Given the description of an element on the screen output the (x, y) to click on. 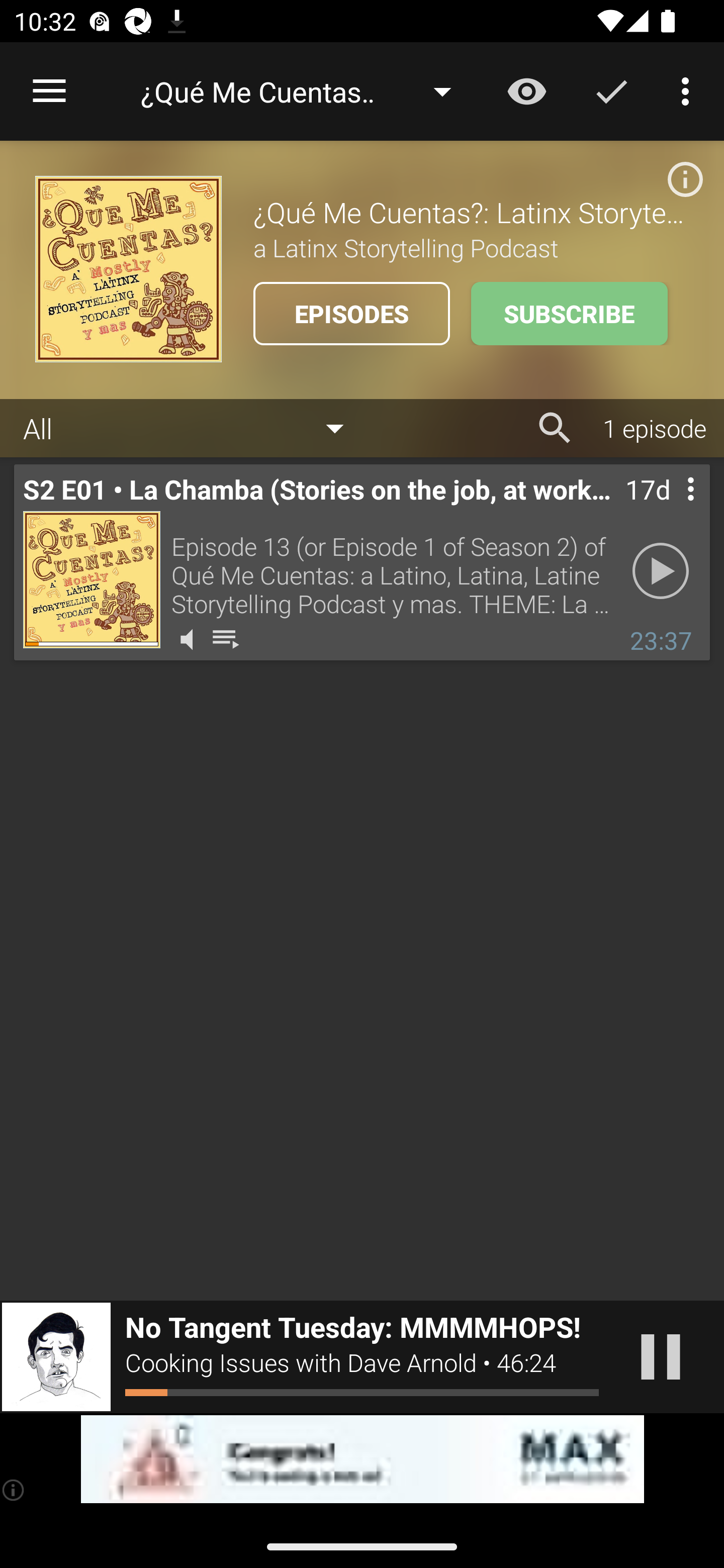
Open navigation sidebar (49, 91)
Show / Hide played content (526, 90)
Action Mode (611, 90)
More options (688, 90)
¿Qué Me Cuentas?: Latinx Storytelling (305, 91)
Podcast description (685, 179)
a Latinx Storytelling Podcast (470, 247)
EPISODES (351, 313)
SUBSCRIBE (569, 313)
Search (555, 428)
All (192, 428)
Contextual menu (668, 508)
La Chamba (Stories on the job, at work) (91, 579)
Play (660, 571)
Play / Pause (660, 1356)
app-monetization (362, 1459)
(i) (14, 1489)
